Given the description of an element on the screen output the (x, y) to click on. 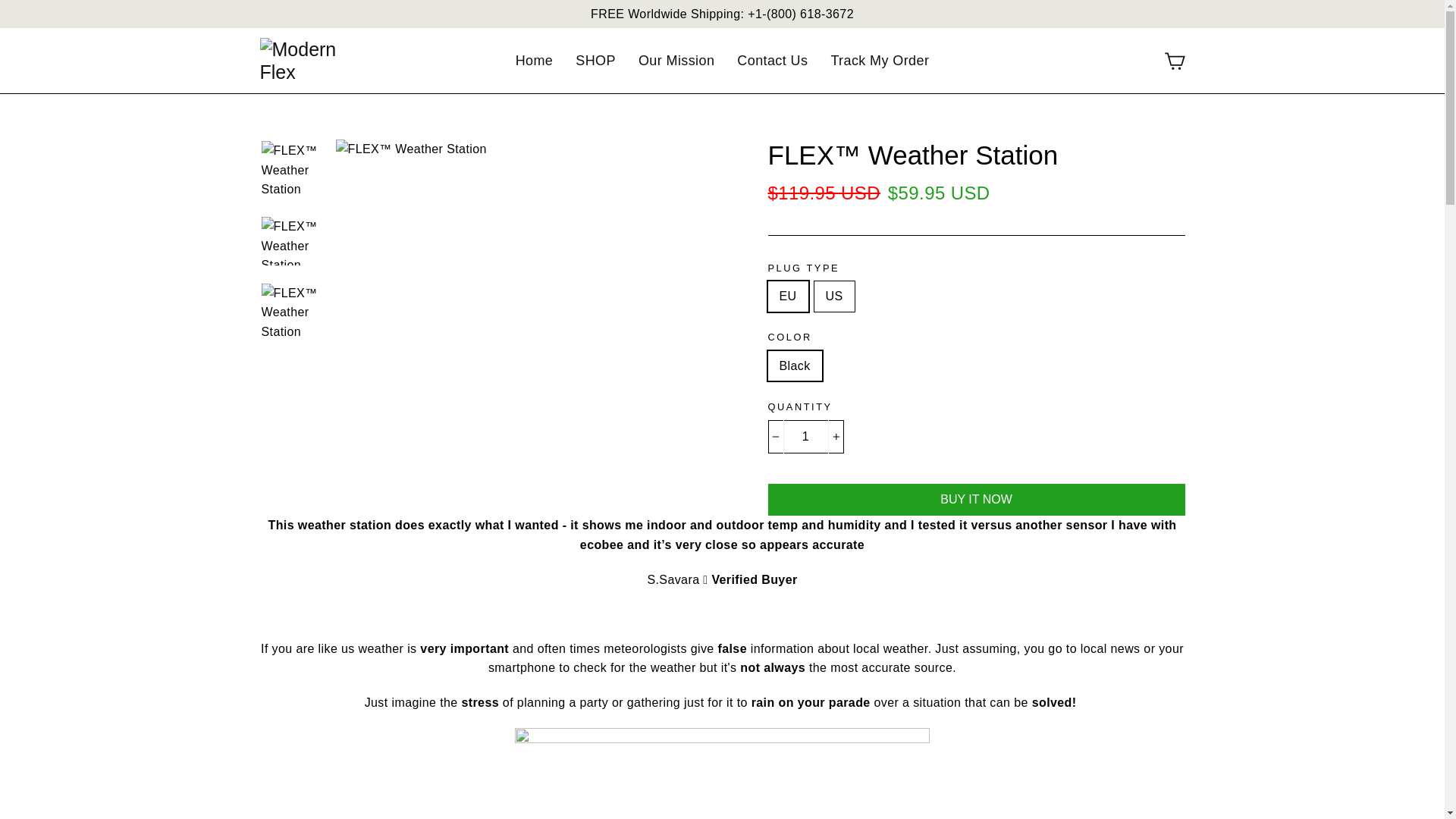
Our Mission (676, 60)
BUY IT NOW (976, 500)
SHOP (595, 60)
Track My Order (879, 60)
Home (533, 60)
Cart (1173, 60)
Contact Us (771, 60)
1 (805, 436)
